Given the description of an element on the screen output the (x, y) to click on. 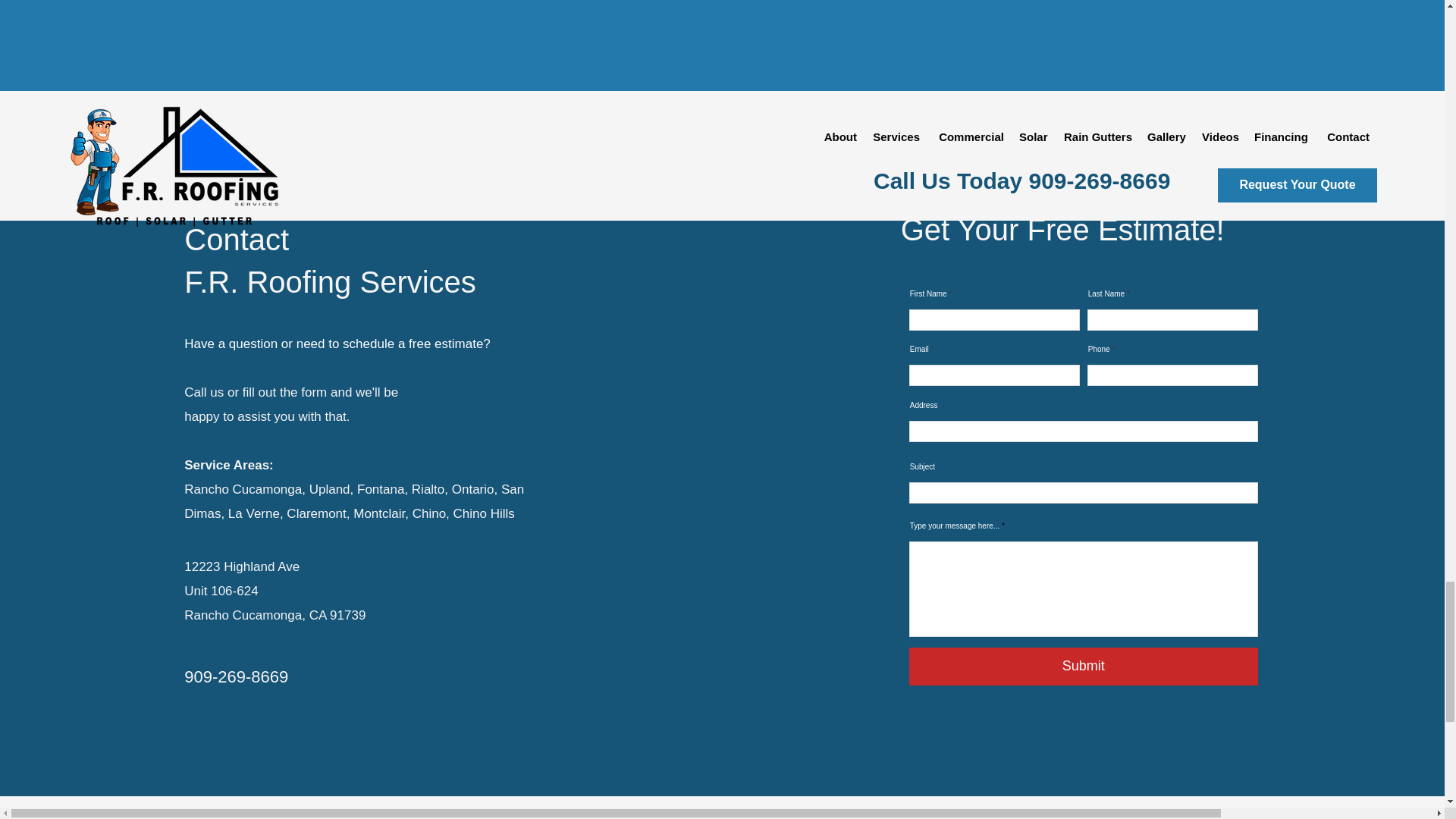
909-269-8669 (236, 676)
Submit (1082, 666)
